Given the description of an element on the screen output the (x, y) to click on. 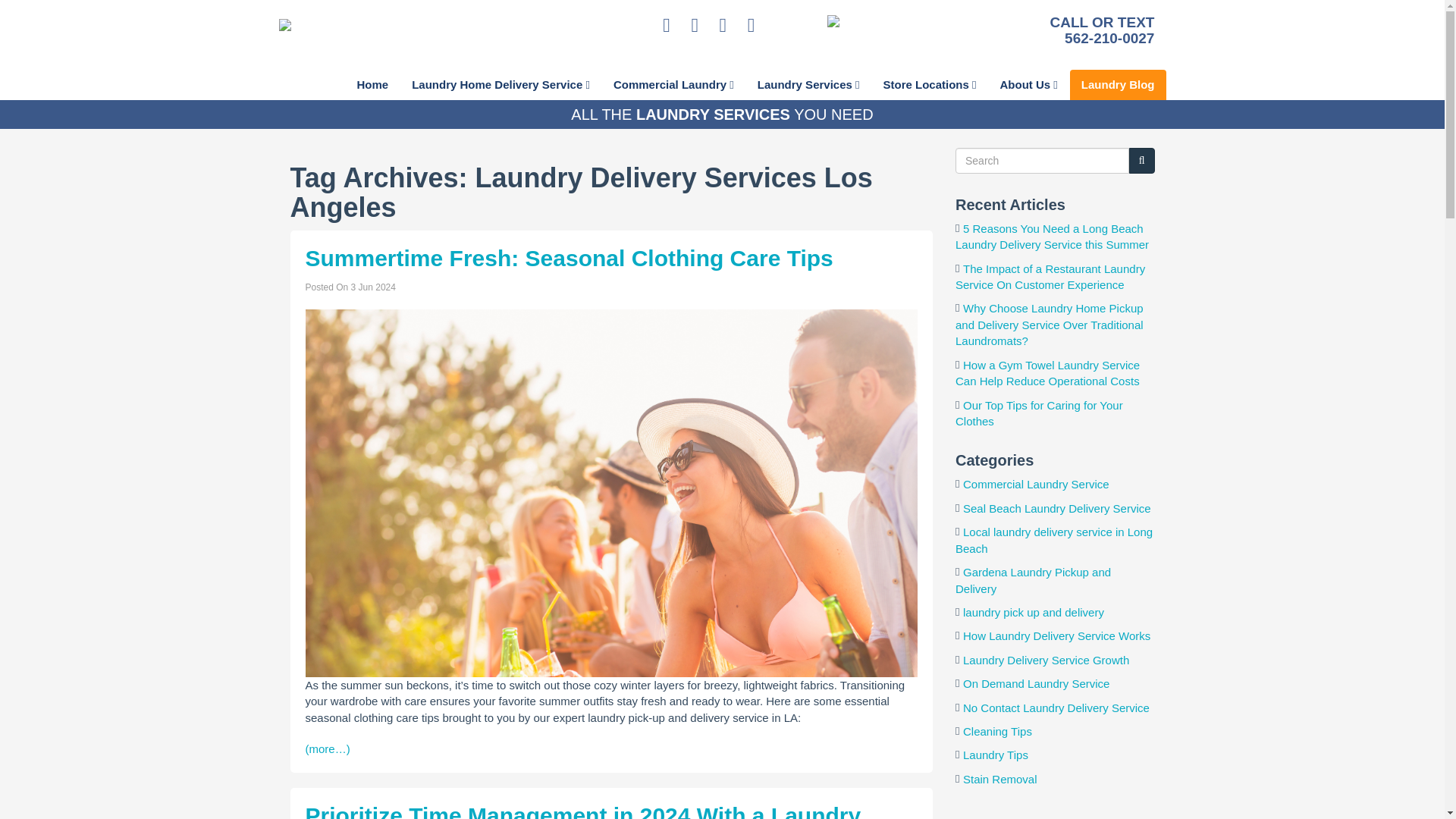
Home (371, 84)
Store Locations (930, 84)
562-210-0027 (1109, 37)
About Us (1028, 84)
Laundry Home Delivery Service (500, 84)
Commercial Laundry (673, 84)
Home (371, 84)
Laundry Services (807, 84)
Laundry Services (807, 84)
Laundry Home Delivery Service (500, 84)
Commercial Laundry (673, 84)
